Given the description of an element on the screen output the (x, y) to click on. 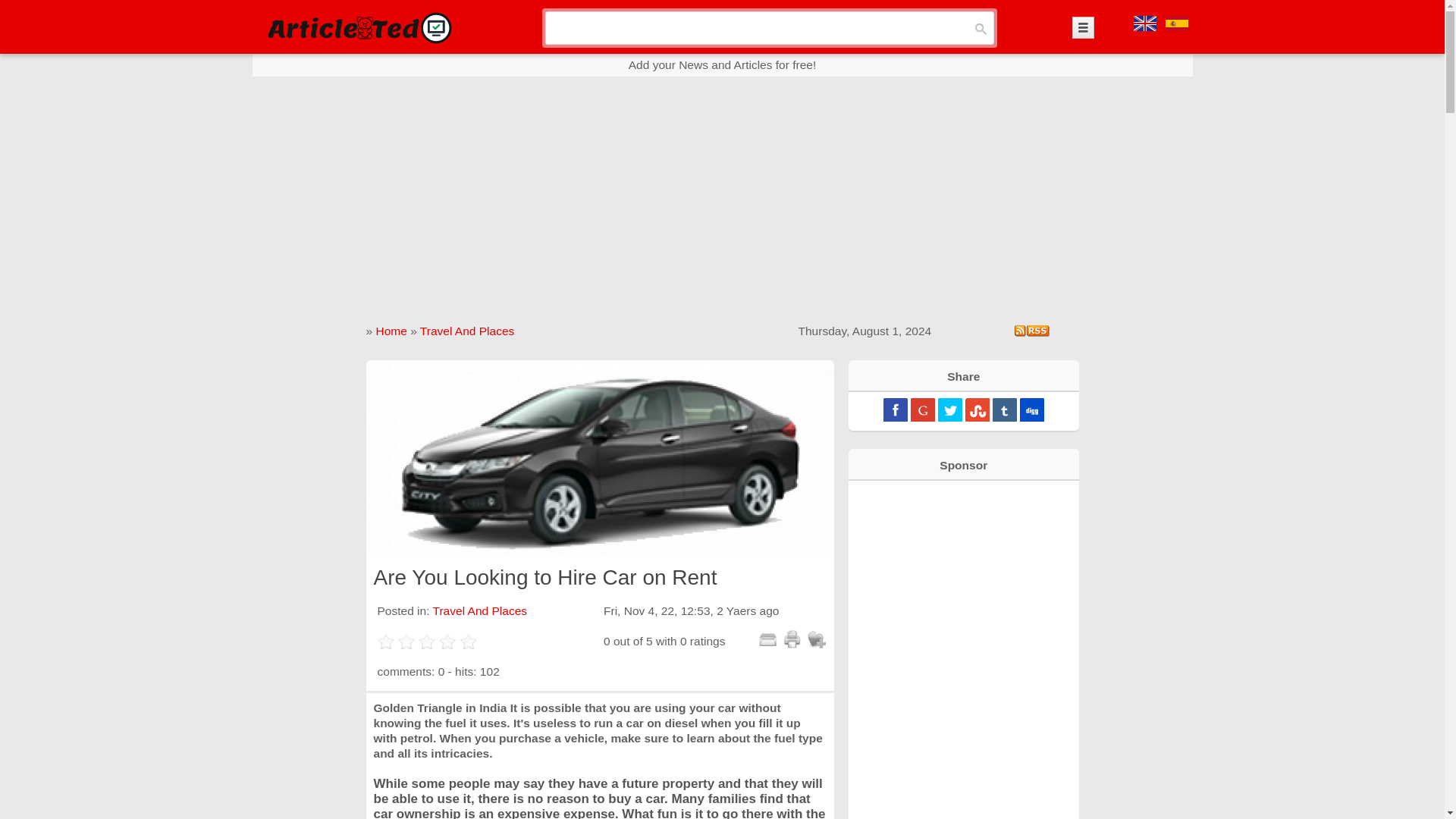
Recommend this Article (767, 638)
Share this page on googleplus (922, 409)
Share this page on digg (1031, 409)
Print This Page (792, 638)
Add To Favorites (816, 638)
ArticleTed -  News and Articles (357, 27)
Share this page on tumblr (1004, 409)
Travel And Places (466, 330)
Share this page on twitter (949, 409)
Travel And Places (479, 610)
